Given the description of an element on the screen output the (x, y) to click on. 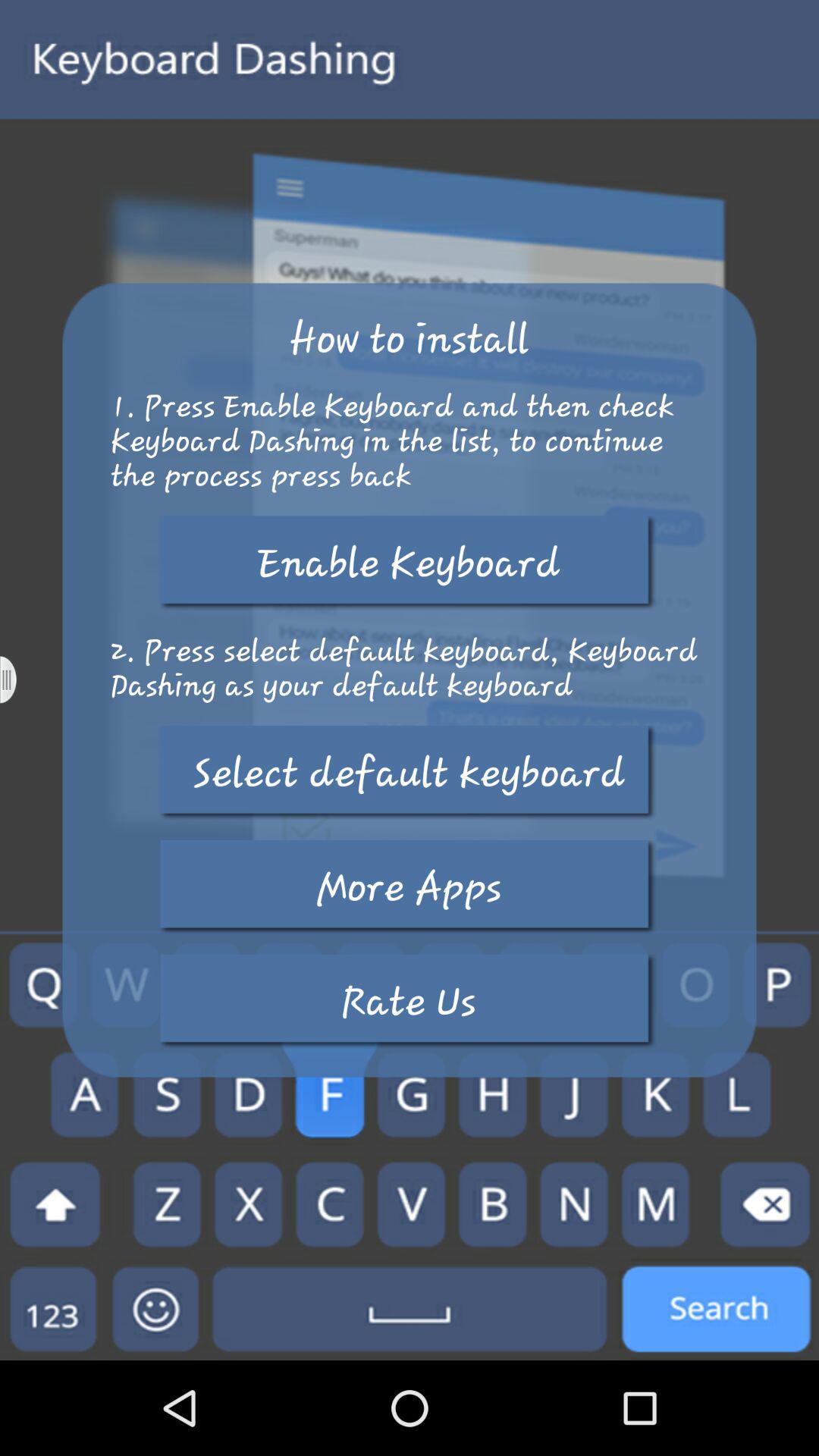
press icon below the select default keyboard item (409, 887)
